Given the description of an element on the screen output the (x, y) to click on. 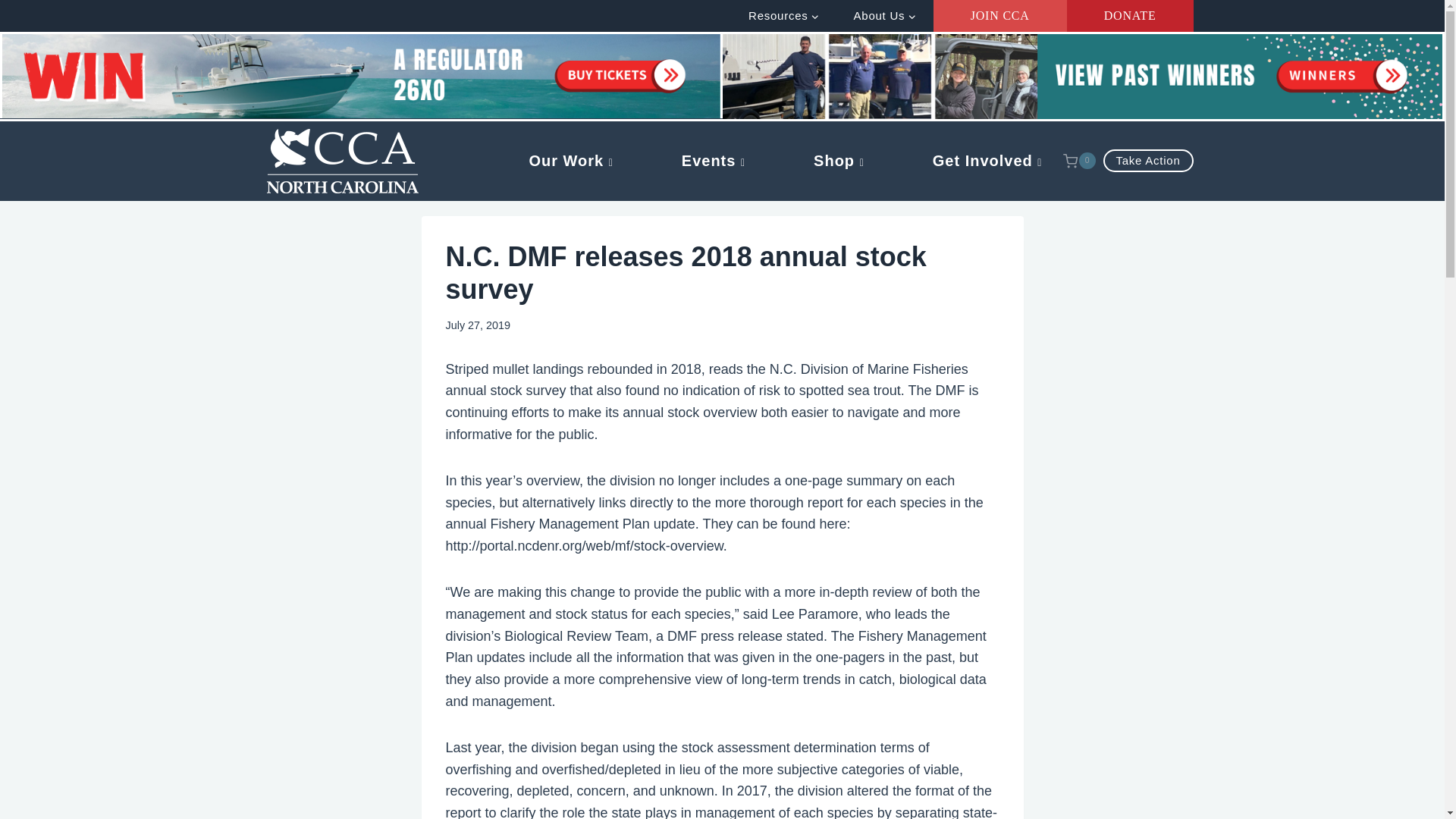
Resources (783, 15)
ccanc-raffle-regulator-26xo (361, 76)
Events (712, 160)
About Us (884, 15)
JOIN CCA (1000, 15)
Shop (838, 160)
Our Work (570, 160)
DONATE (1130, 15)
raffle-past-winners-02 (1082, 76)
